Given the description of an element on the screen output the (x, y) to click on. 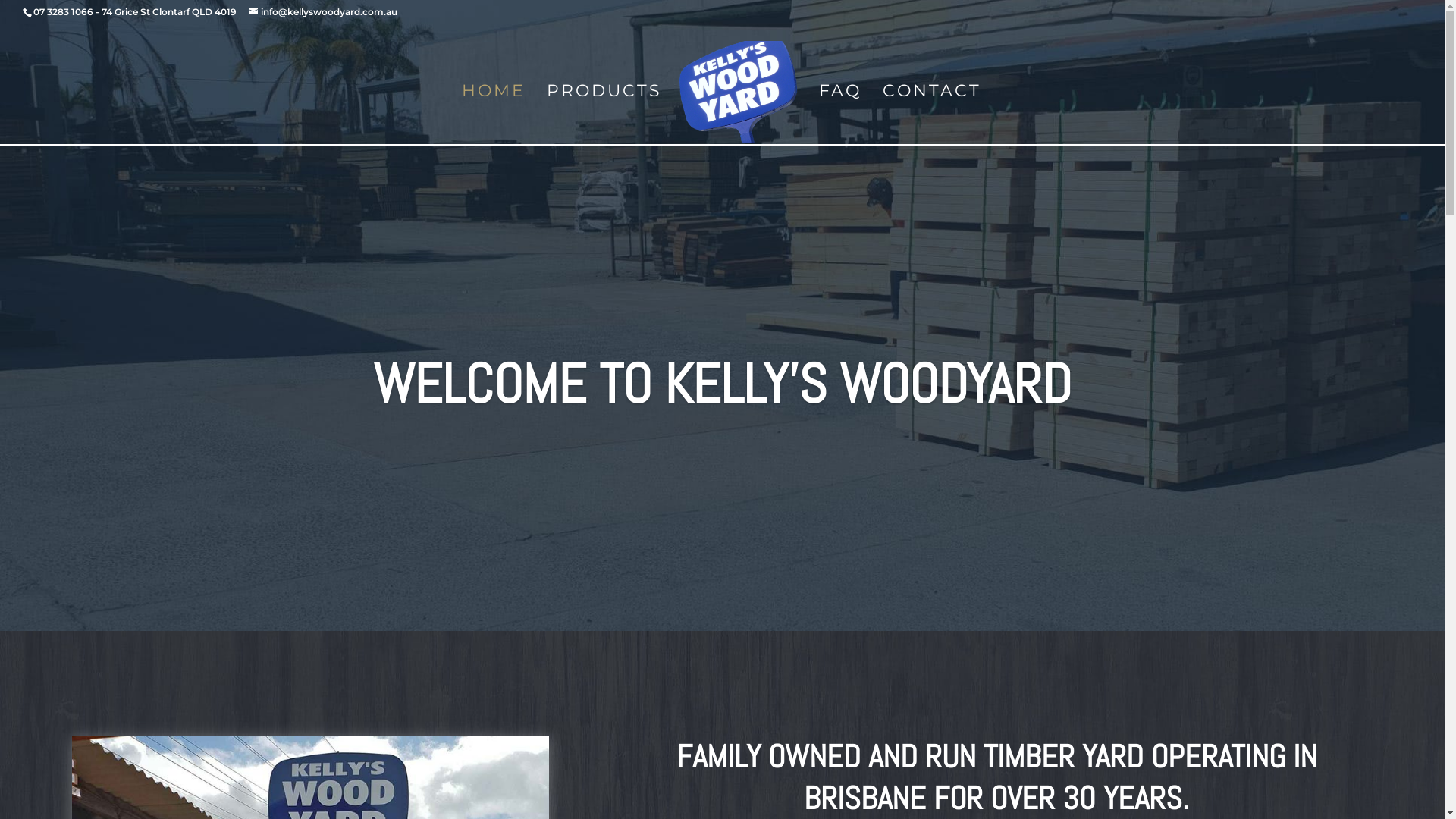
FAQ Element type: text (840, 115)
PRODUCTS Element type: text (604, 115)
07 3283 1066 Element type: text (63, 11)
HOME Element type: text (493, 115)
CONTACT Element type: text (931, 115)
info@kellyswoodyard.com.au Element type: text (322, 11)
